Given the description of an element on the screen output the (x, y) to click on. 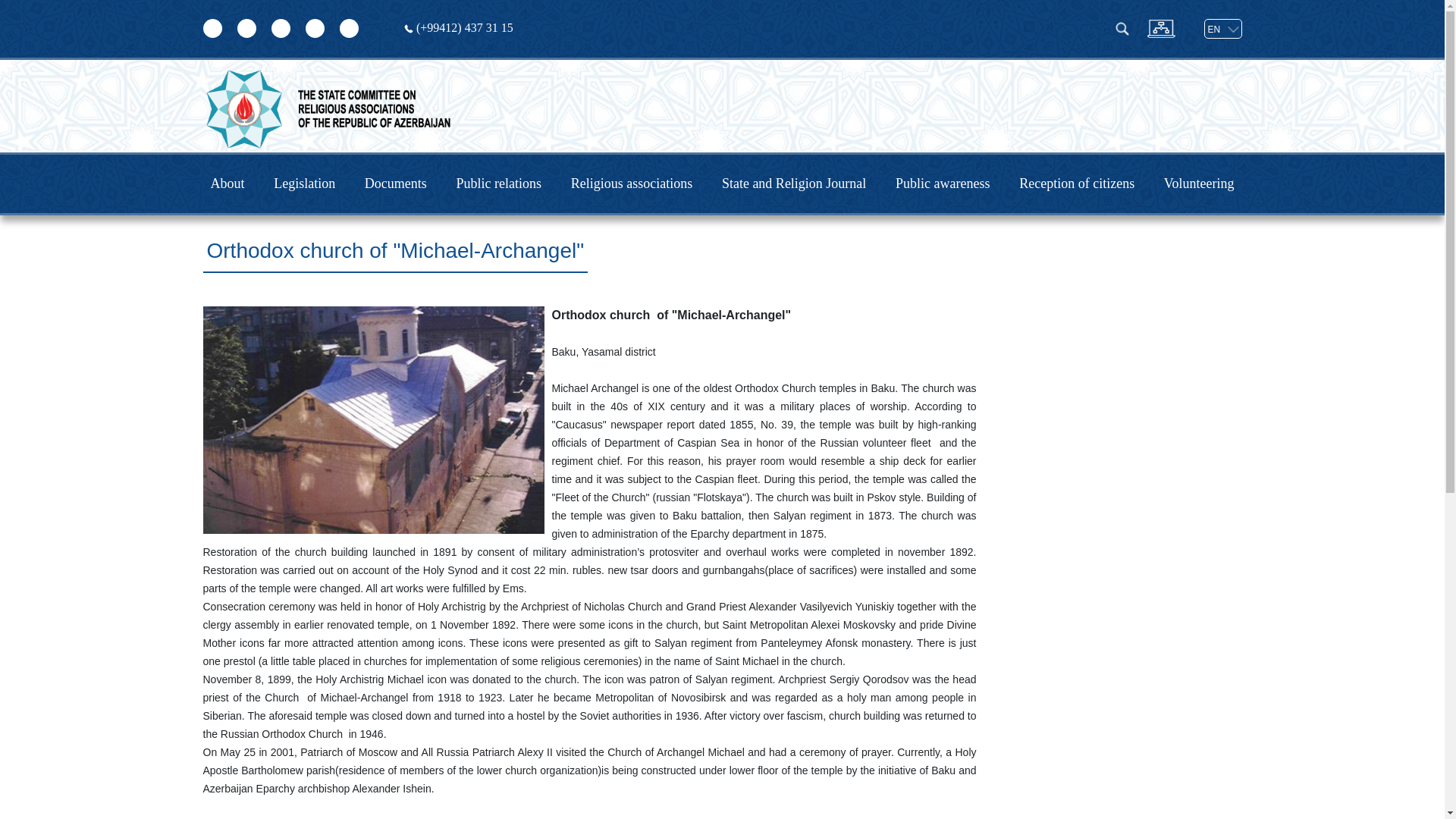
Public relations Element type: text (498, 183)
State and Religion Journal Element type: text (793, 183)
Documents Element type: text (395, 183)
Reception of citizens Element type: text (1076, 183)
Public awareness Element type: text (942, 183)
Volunteering Element type: text (1199, 183)
Legislation Element type: text (304, 183)
Religious associations Element type: text (631, 183)
About Element type: text (227, 183)
